Given the description of an element on the screen output the (x, y) to click on. 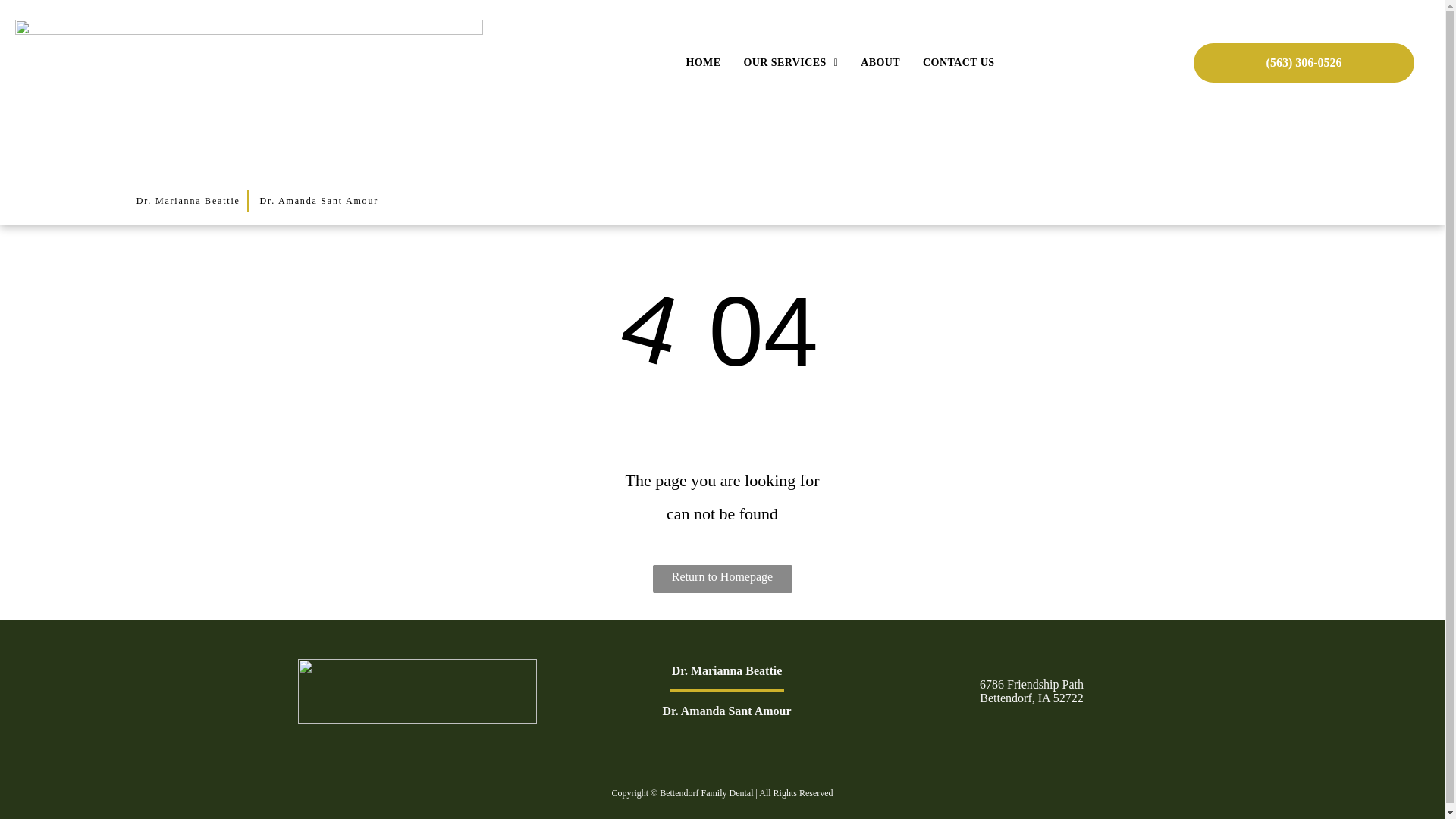
Return to Homepage (722, 578)
HOME (703, 62)
OUR SERVICES (790, 62)
ABOUT (879, 62)
CONTACT US (958, 62)
